Given the description of an element on the screen output the (x, y) to click on. 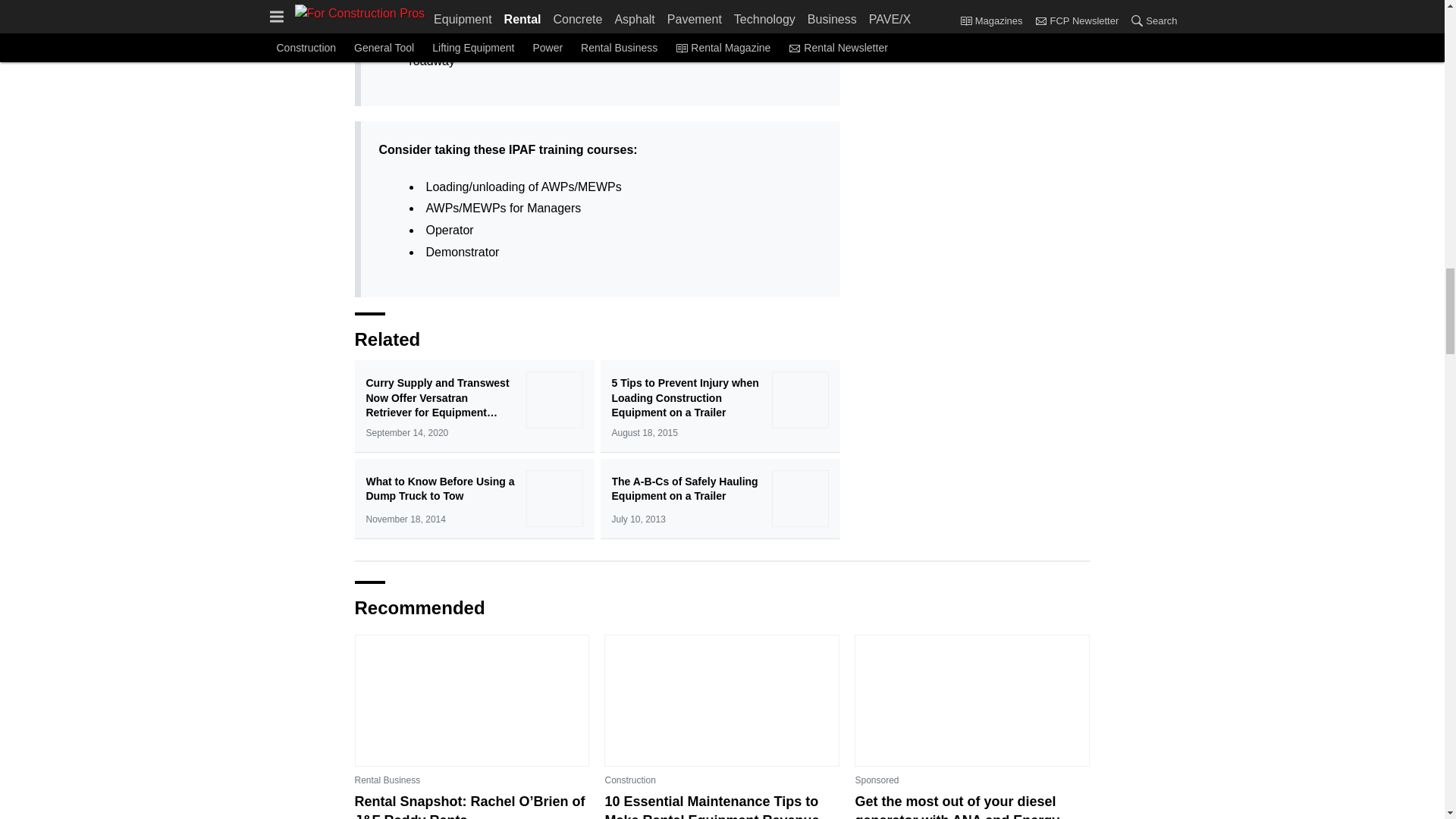
Sponsored (876, 780)
